Given the description of an element on the screen output the (x, y) to click on. 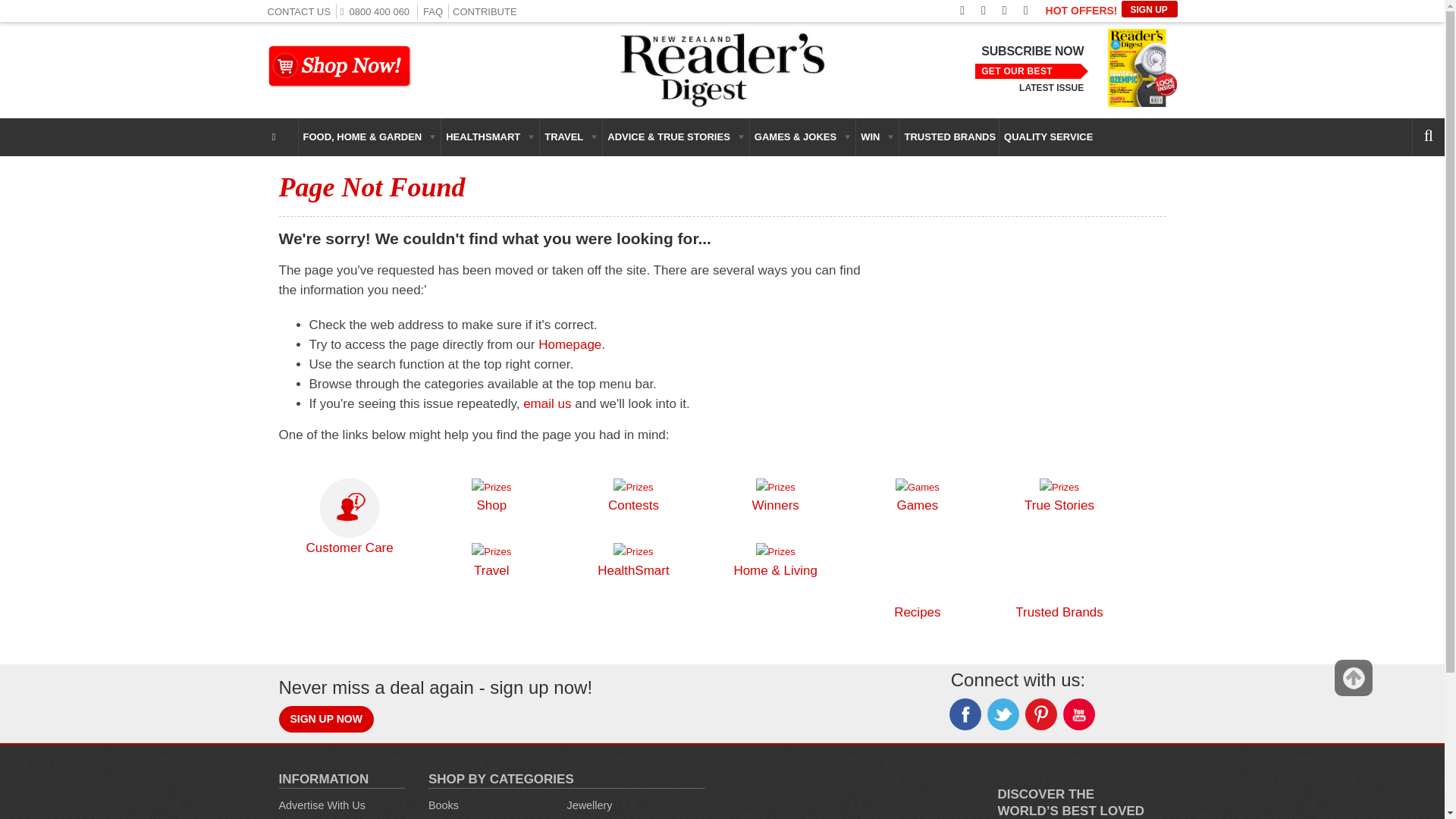
SUBSCRIBE NOW (1032, 51)
LATEST ISSUE (1051, 87)
CONTRIBUTE (484, 11)
0800 400 060 (378, 11)
CONTACT US (298, 11)
FAQ (432, 11)
HEALTHSMART (489, 136)
SIGN UP (1148, 8)
TRAVEL (571, 136)
